Given the description of an element on the screen output the (x, y) to click on. 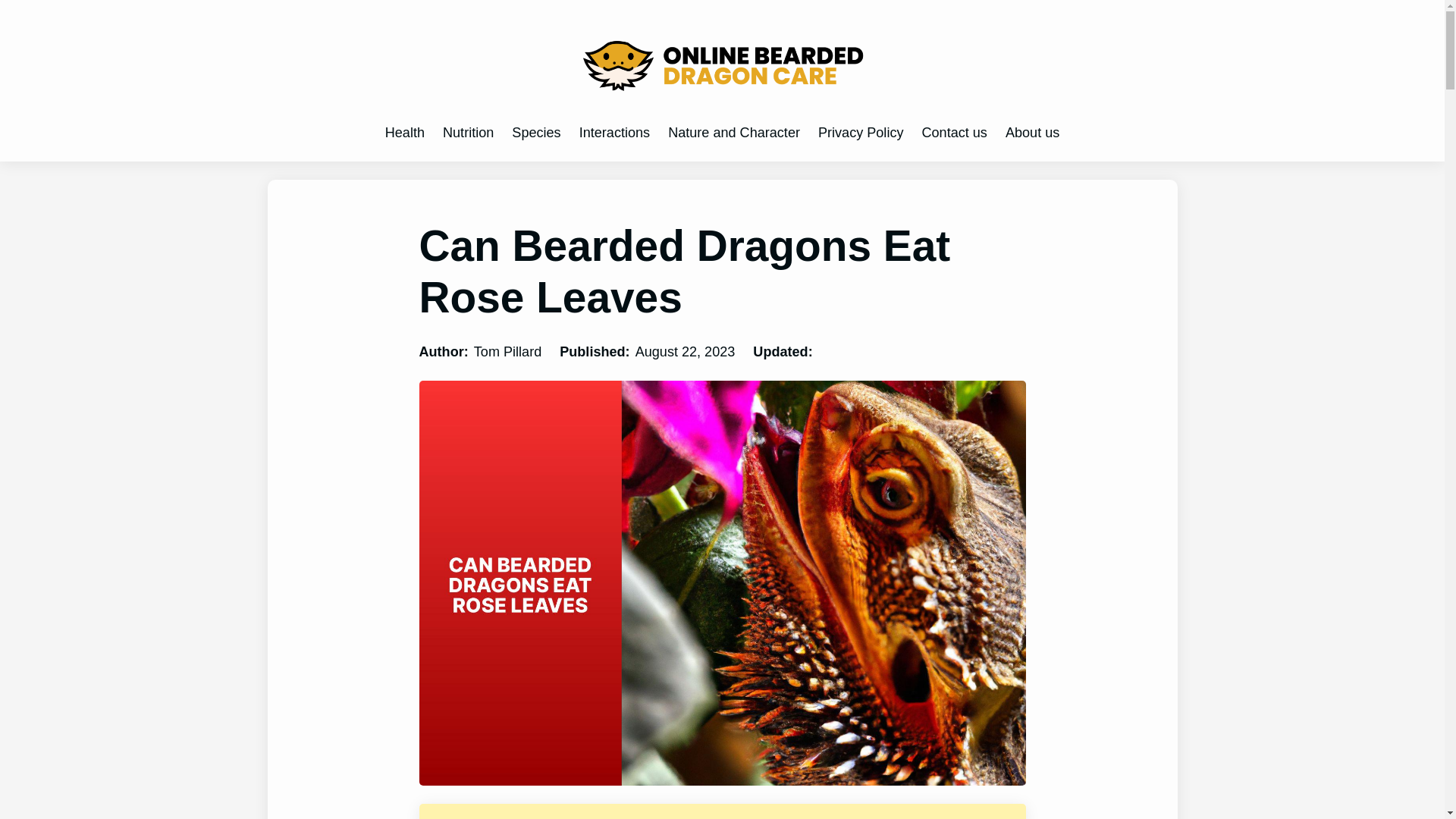
Health (405, 132)
Contact us (954, 132)
Nature and Character (733, 132)
Nutrition (467, 132)
Species (536, 132)
About us (1032, 132)
Privacy Policy (861, 132)
Interactions (614, 132)
